Given the description of an element on the screen output the (x, y) to click on. 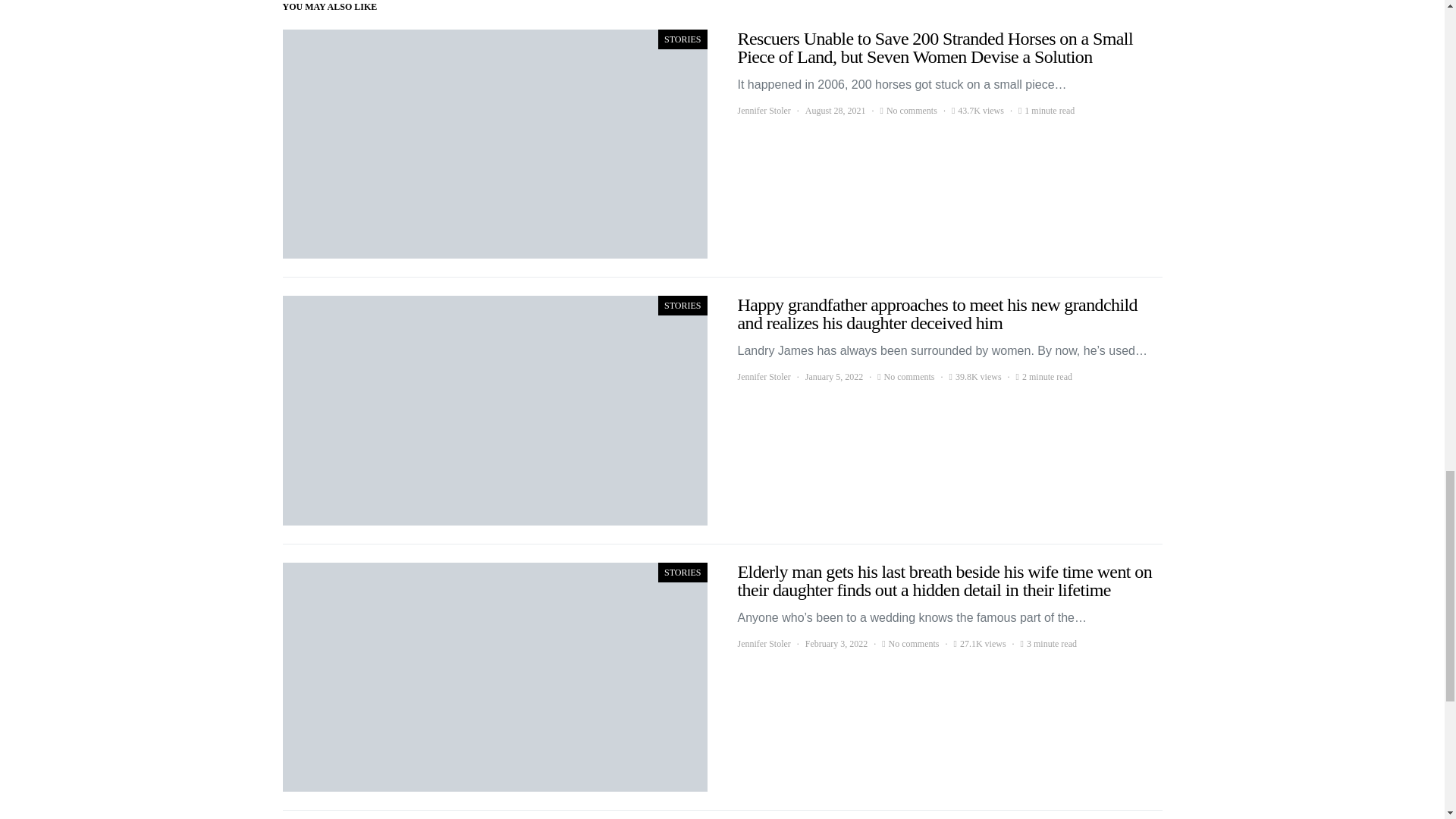
STORIES (682, 572)
No comments (913, 643)
No comments (911, 110)
View all posts by Jennifer Stoler (763, 110)
No comments (908, 377)
STORIES (682, 305)
Jennifer Stoler (763, 643)
Jennifer Stoler (763, 110)
View all posts by Jennifer Stoler (763, 643)
Jennifer Stoler (763, 377)
View all posts by Jennifer Stoler (763, 377)
STORIES (682, 39)
